Given the description of an element on the screen output the (x, y) to click on. 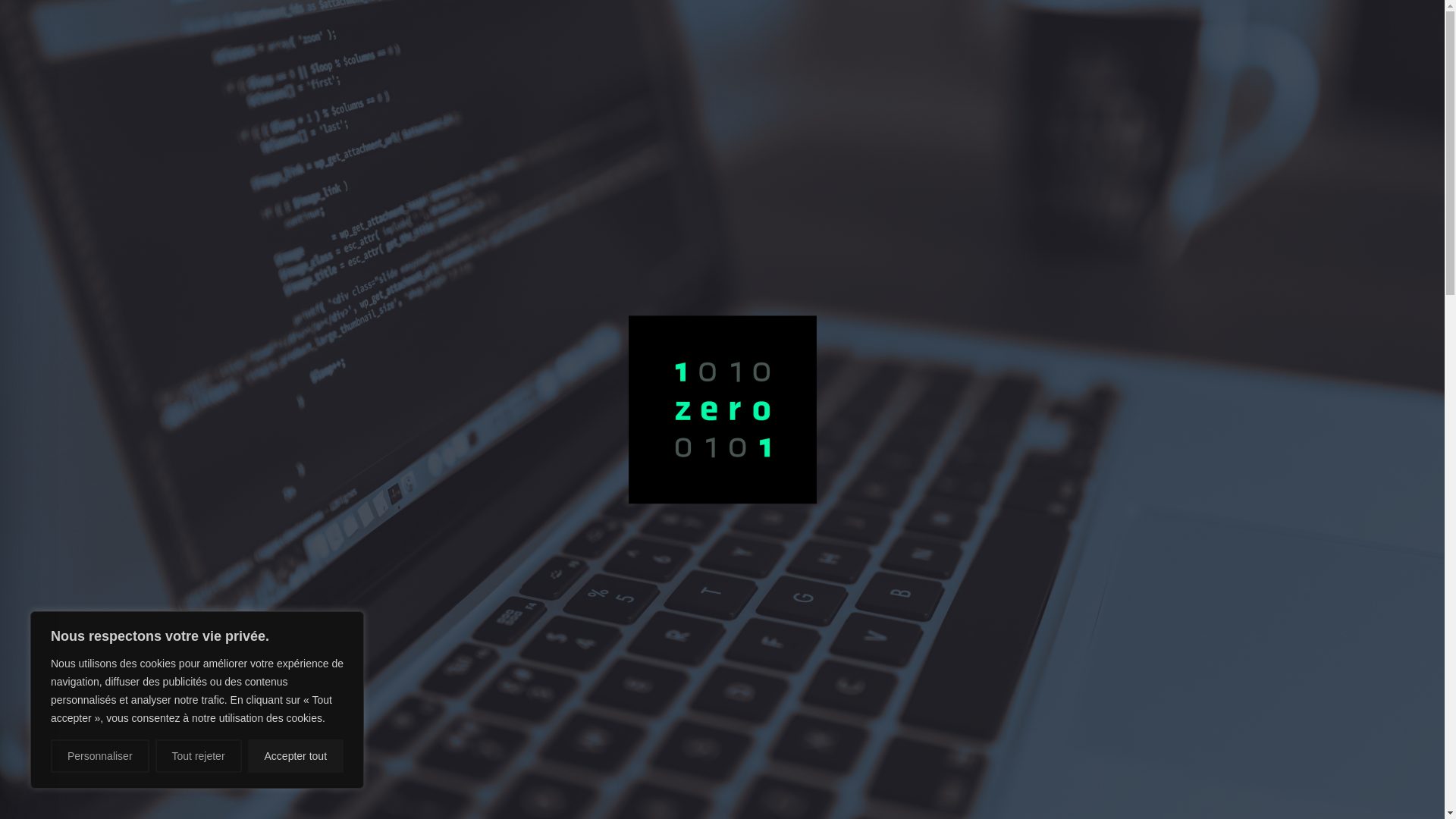
Accepter tout Element type: text (295, 755)
Tout rejeter Element type: text (198, 755)
Personnaliser Element type: text (99, 755)
1ZERO1-02 Element type: hover (721, 409)
